Given the description of an element on the screen output the (x, y) to click on. 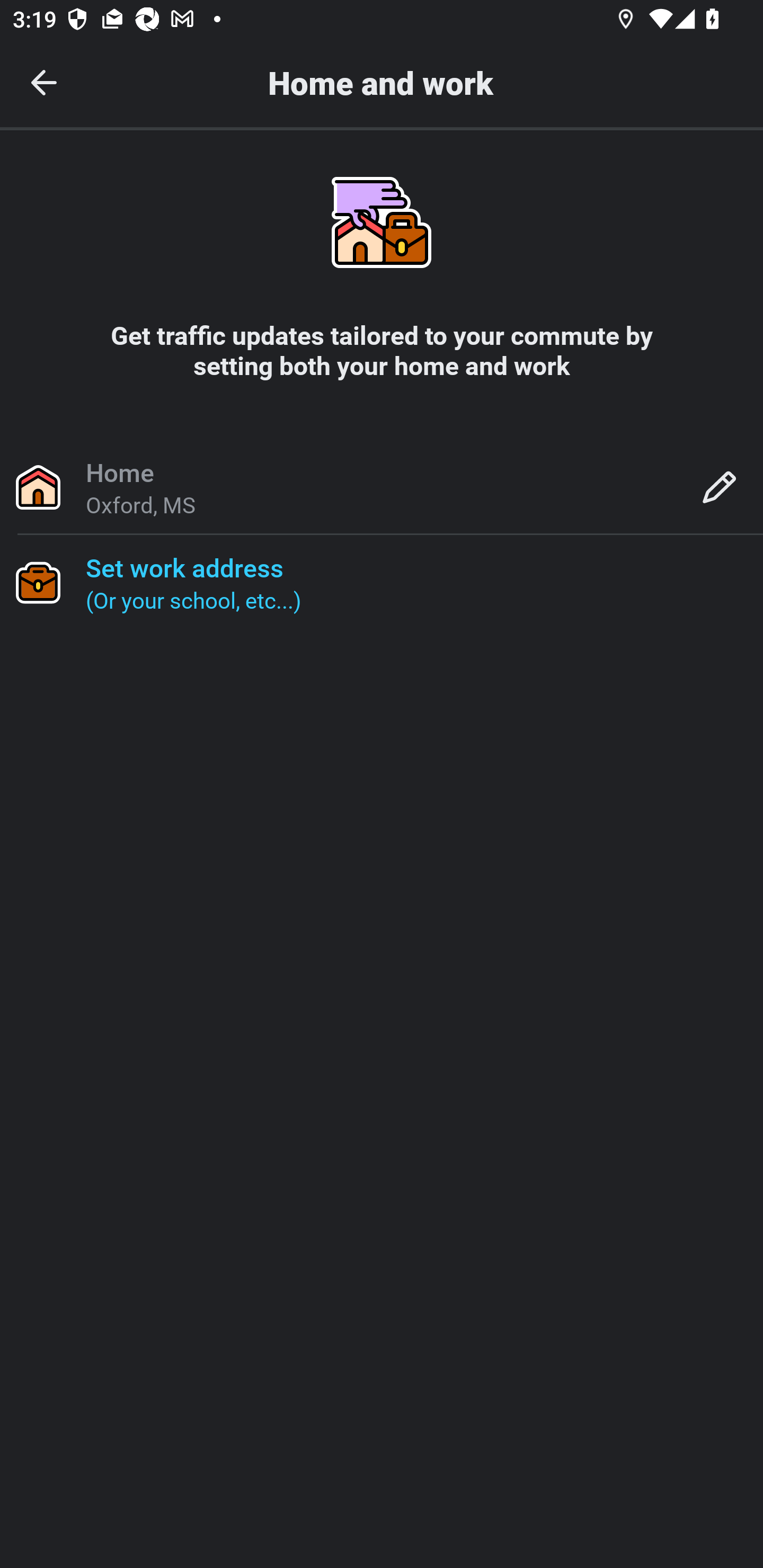
Home Oxford, MS (381, 486)
Set work address (Or your school, etc...) (381, 582)
